Given the description of an element on the screen output the (x, y) to click on. 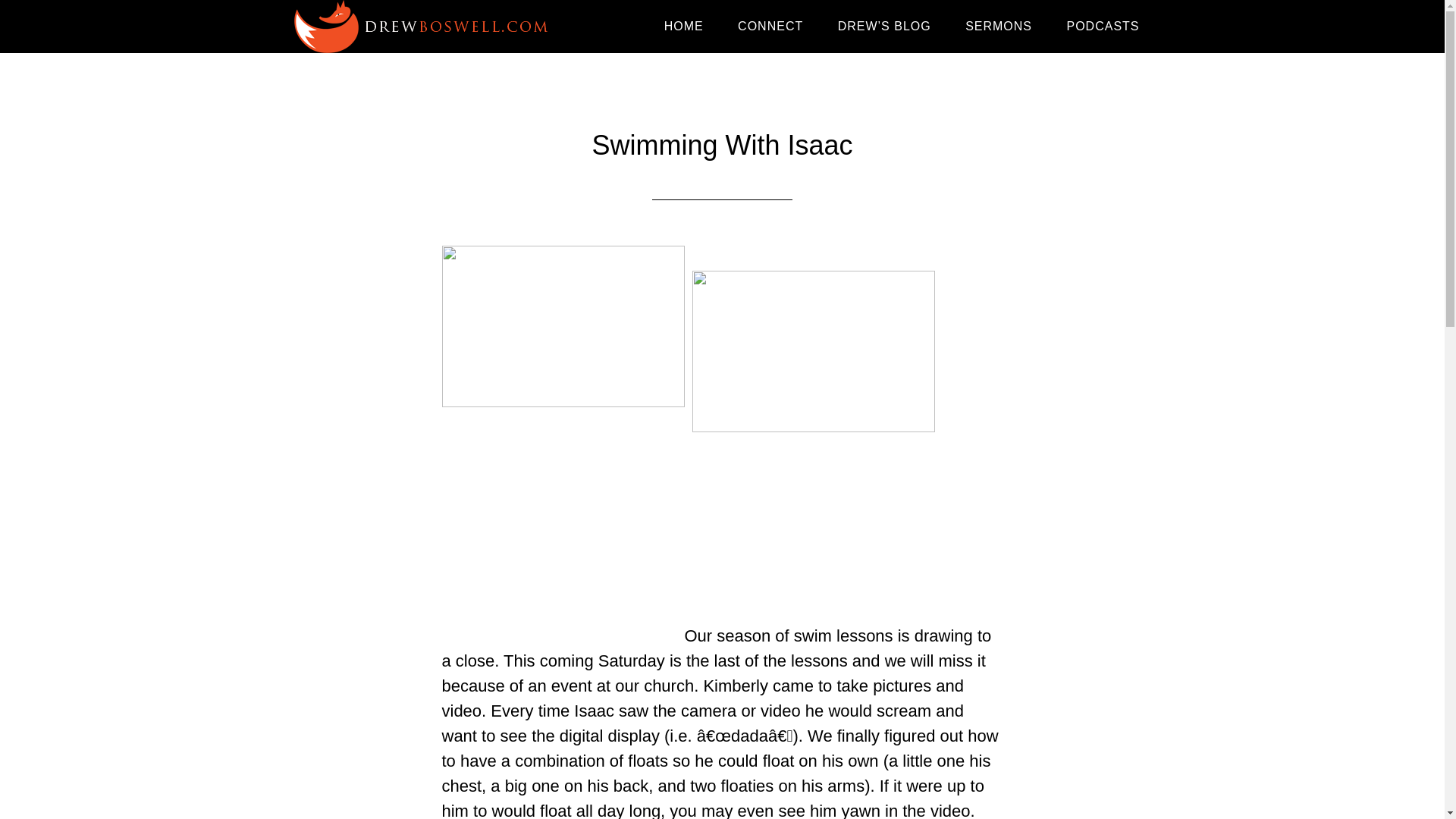
SERMONS (998, 26)
CONNECT (770, 26)
PODCASTS (1102, 26)
HOME (684, 26)
DREW BOSWELL (425, 26)
